Given the description of an element on the screen output the (x, y) to click on. 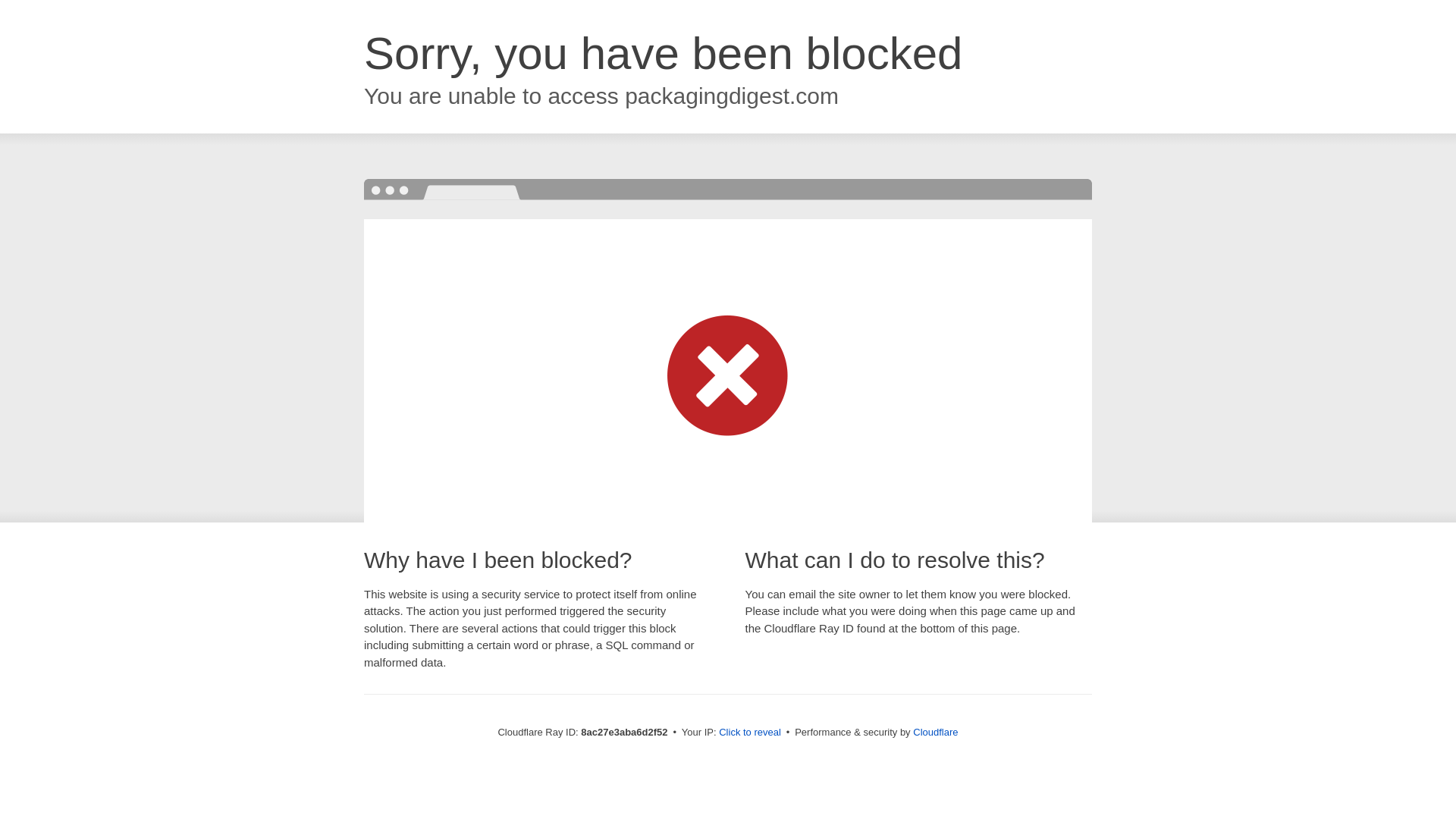
Click to reveal (749, 732)
Cloudflare (935, 731)
